Given the description of an element on the screen output the (x, y) to click on. 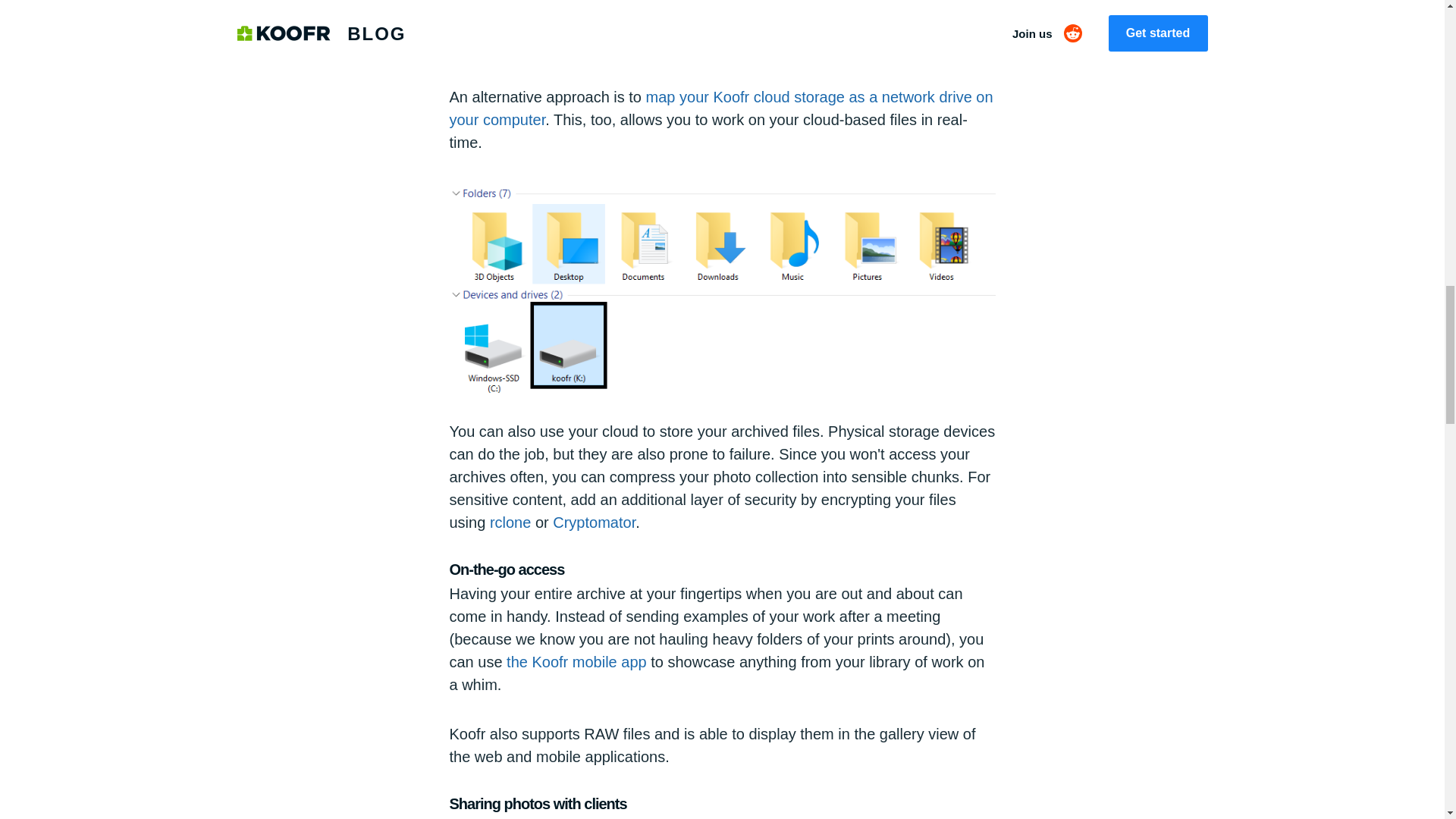
rclone (510, 522)
Cryptomator (593, 522)
the Koofr mobile app (576, 661)
